Given the description of an element on the screen output the (x, y) to click on. 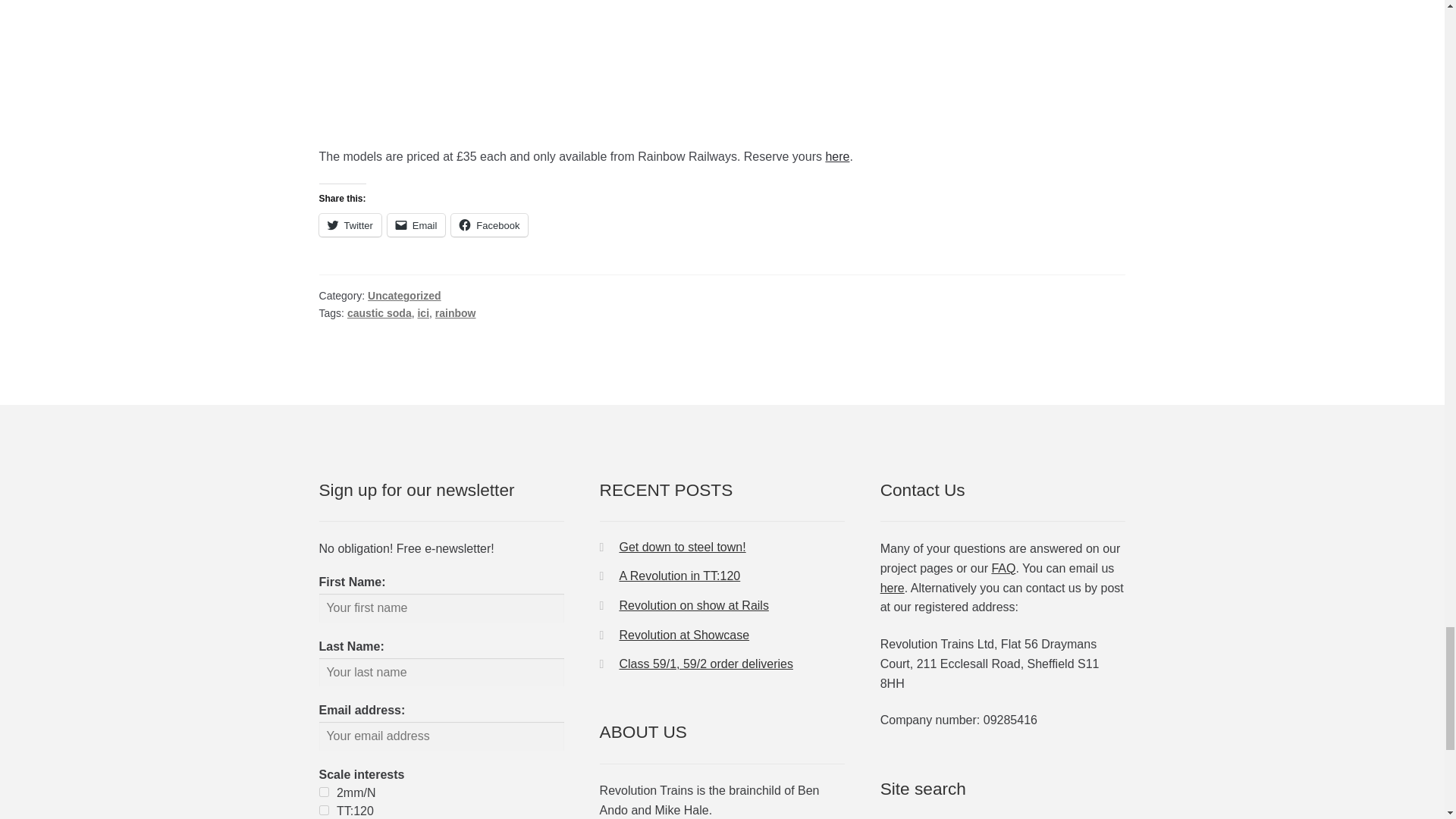
Click to share on Twitter (349, 224)
276d40be4a (323, 791)
Click to share on Facebook (489, 224)
Click to email a link to a friend (416, 224)
36d8900eaa (323, 809)
